Given the description of an element on the screen output the (x, y) to click on. 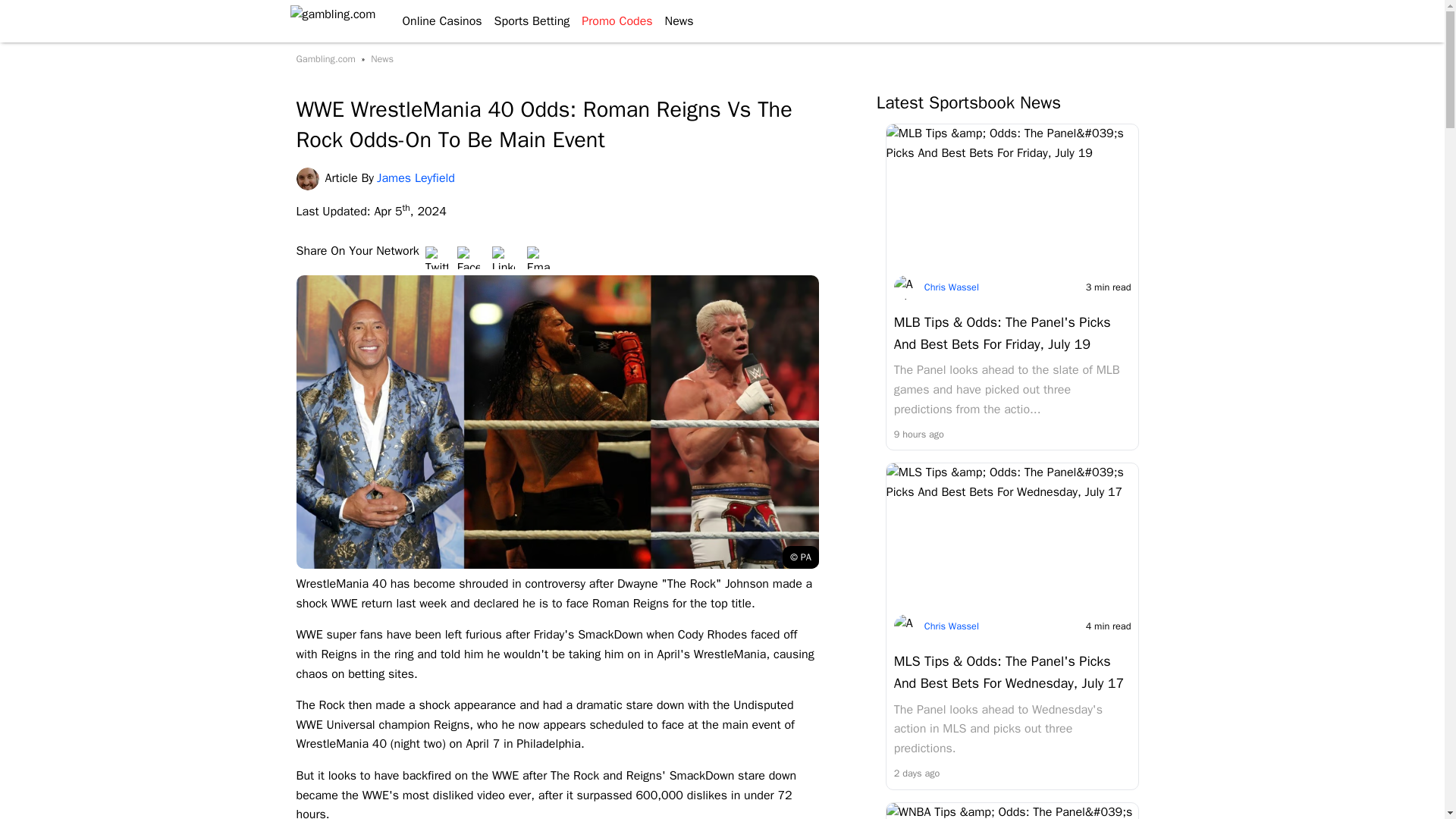
Sports Betting (525, 21)
James Leyfield (309, 178)
Online Casinos (435, 21)
